Given the description of an element on the screen output the (x, y) to click on. 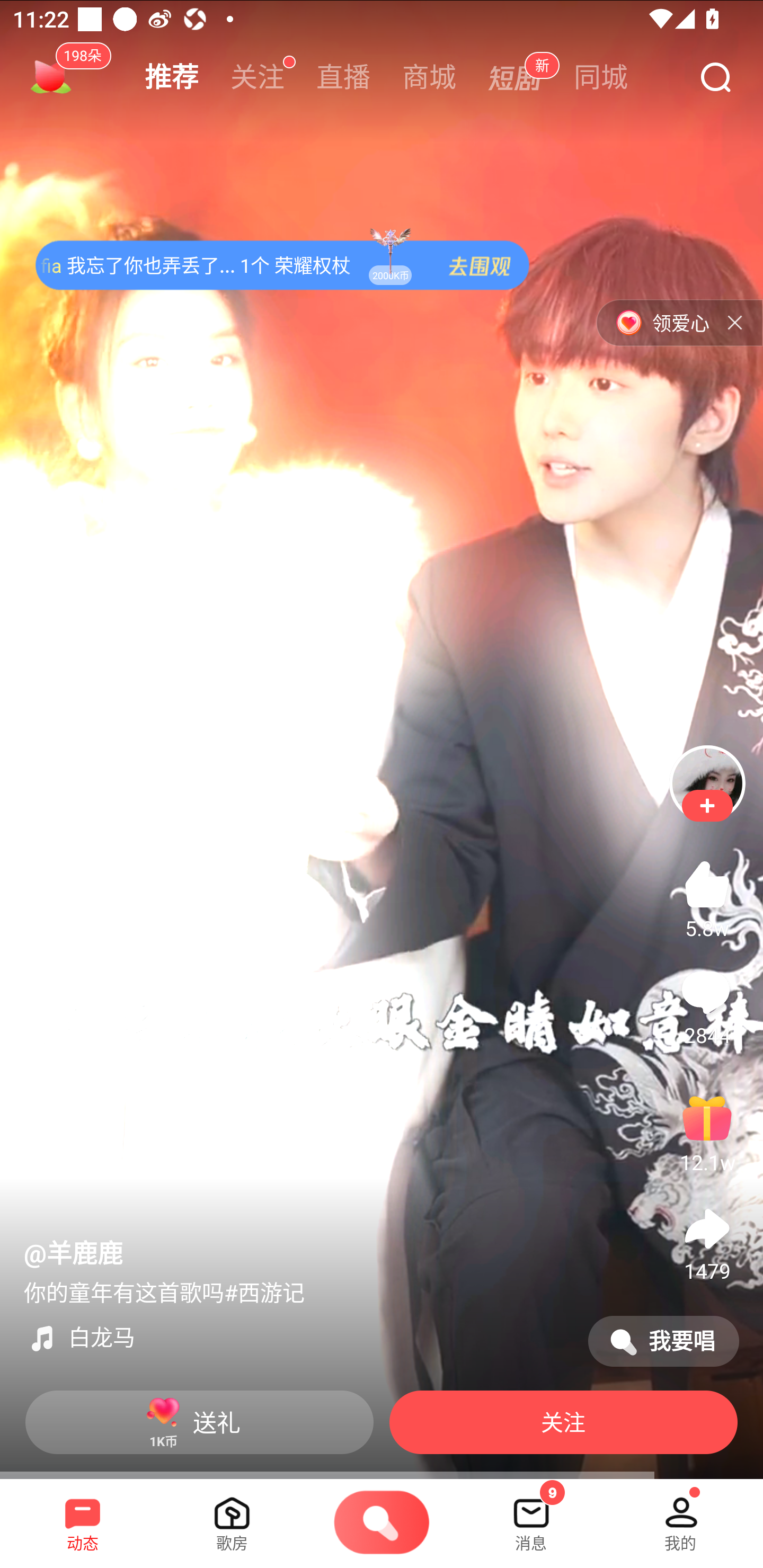
推荐 (171, 77)
关注 (257, 77)
直播 (343, 77)
商城 (429, 77)
同城 (600, 77)
任务中心 (50, 77)
搜索 (714, 78)
头像 (707, 782)
关注 (706, 805)
点赞58760 5.8w (706, 896)
评论2844 2844 (706, 1003)
送礼12.1w 12.1w (706, 1131)
分享1479 1479 (706, 1240)
@羊鹿鹿 (72, 1254)
你的童年有这首歌吗#西游记 (163, 1293)
白龙马 (297, 1338)
我要唱 (663, 1341)
1K币 送礼 (199, 1421)
关注 (563, 1421)
已选中动态 (82, 1516)
未选中歌房 (231, 1516)
未选中录歌 (381, 1523)
未选中消息 (530, 1516)
未选中我的 (680, 1516)
